Given the description of an element on the screen output the (x, y) to click on. 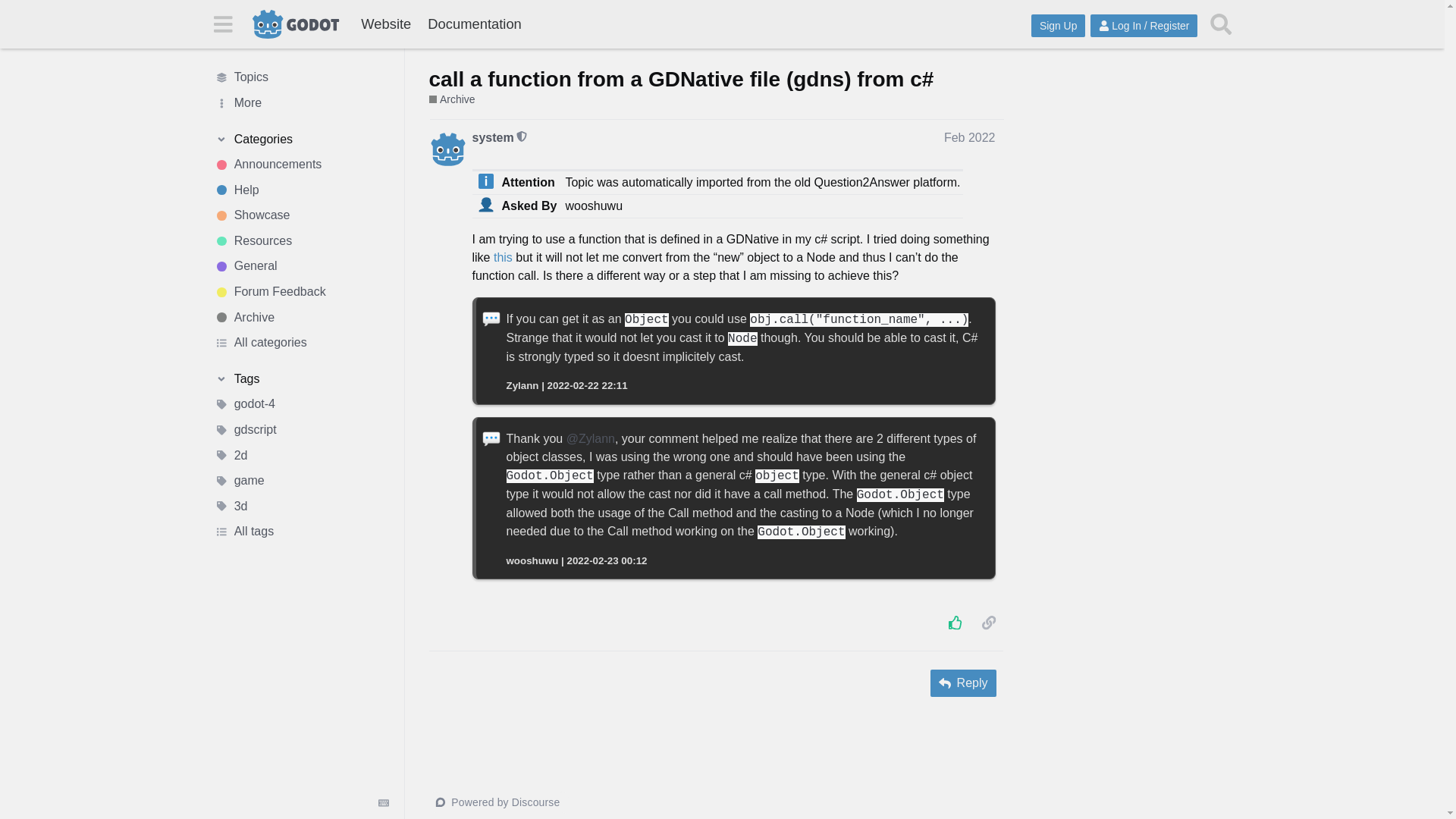
Reply (962, 682)
Search (1220, 23)
Official blog posts and other Godot announcements. (301, 164)
2d (301, 455)
Showcase (301, 216)
Toggle section (301, 139)
game (301, 481)
Archive (452, 99)
Feb 2022 (969, 137)
Go to the Godot Documentation (474, 23)
